Given the description of an element on the screen output the (x, y) to click on. 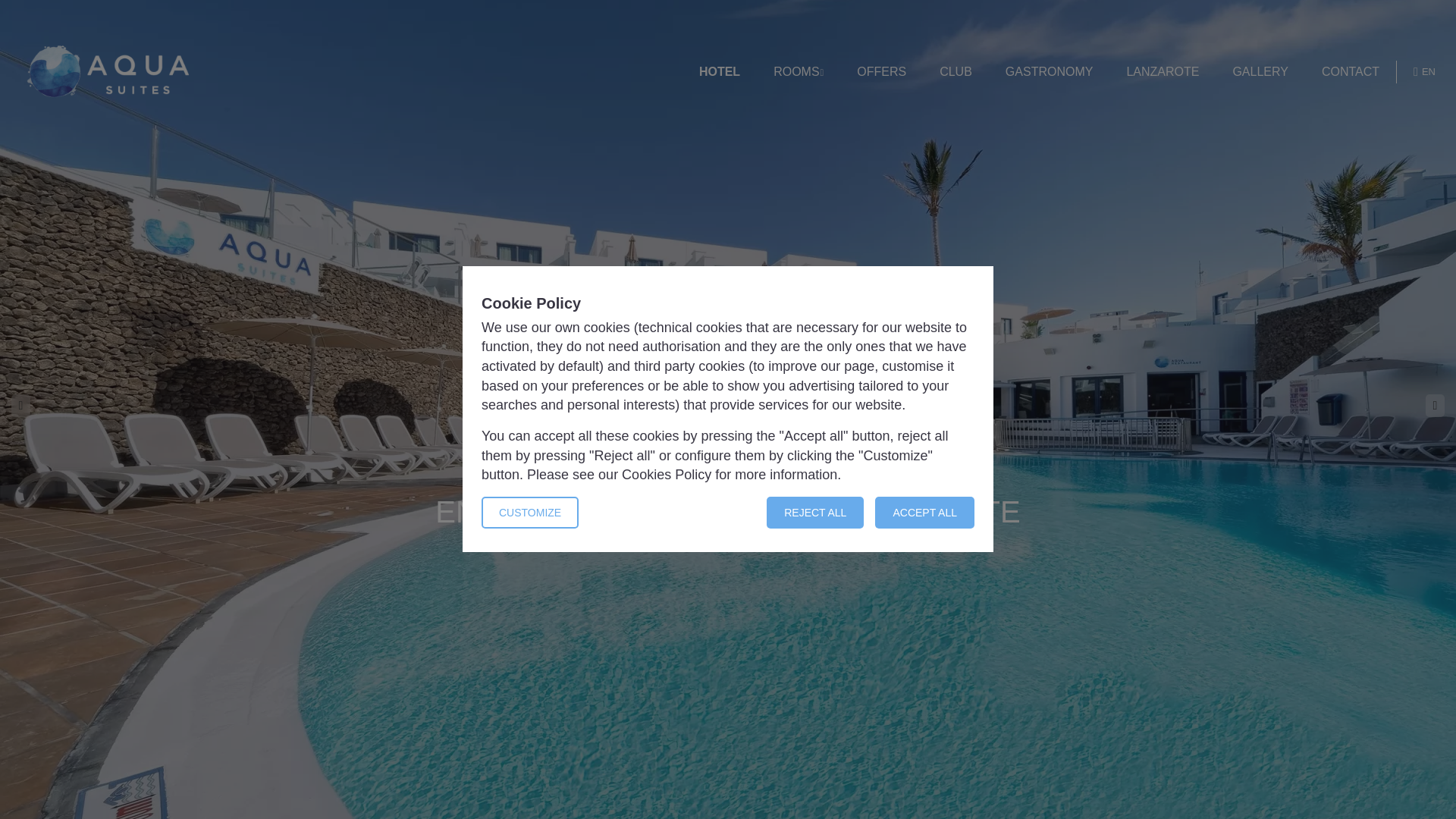
GASTRONOMY (1049, 72)
Aqua Suites Lanzarote (108, 71)
GALLERY (1260, 72)
HOTEL (719, 72)
LANZAROTE (1162, 72)
EN (1424, 71)
CLUB (956, 72)
ROOMS (797, 72)
OFFERS (881, 72)
CONTACT (1350, 72)
